Given the description of an element on the screen output the (x, y) to click on. 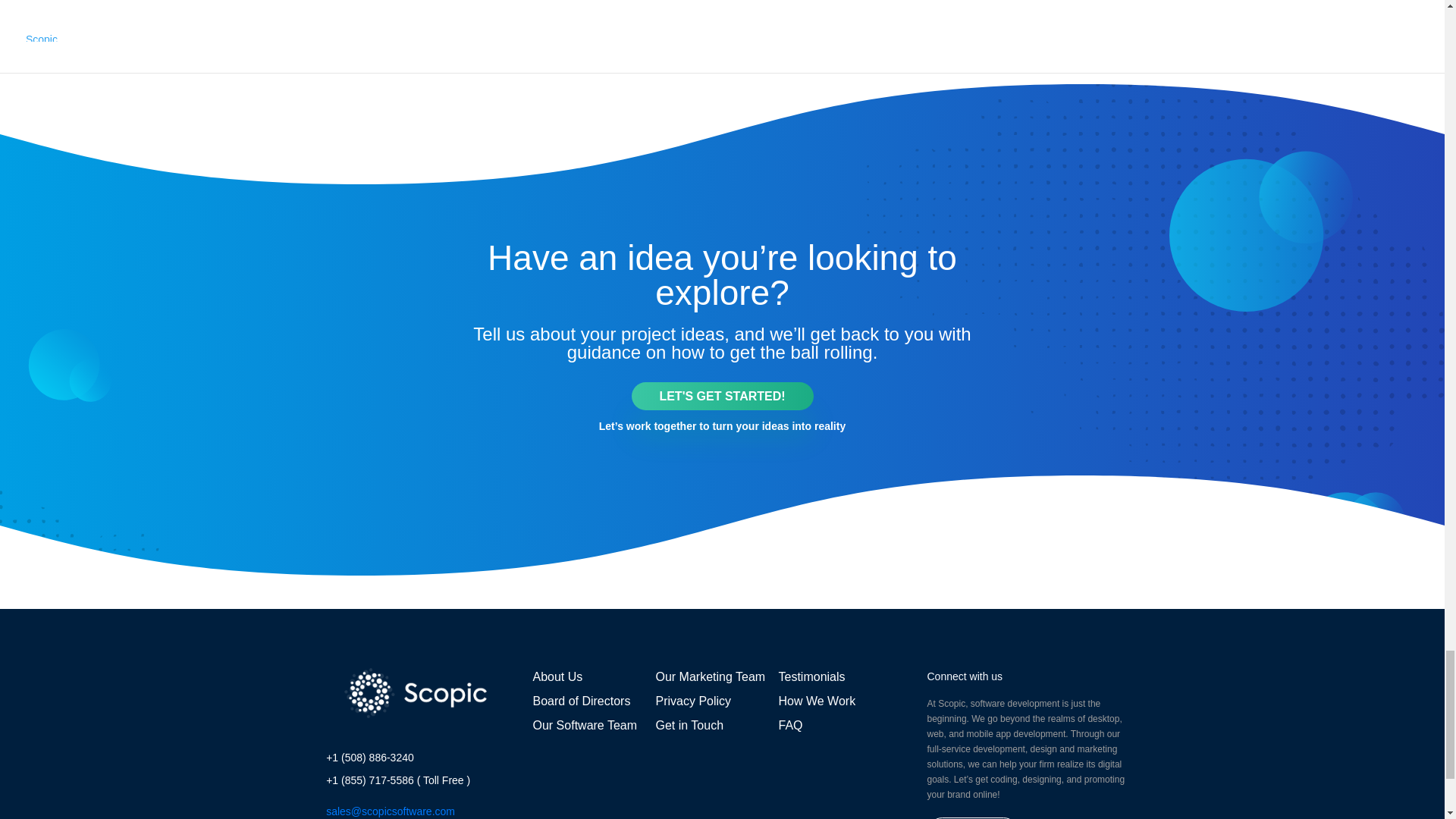
Follow on Instagram (726, 817)
Follow on X (695, 817)
Follow on Facebook (665, 817)
Follow on LinkedIn (756, 817)
